Given the description of an element on the screen output the (x, y) to click on. 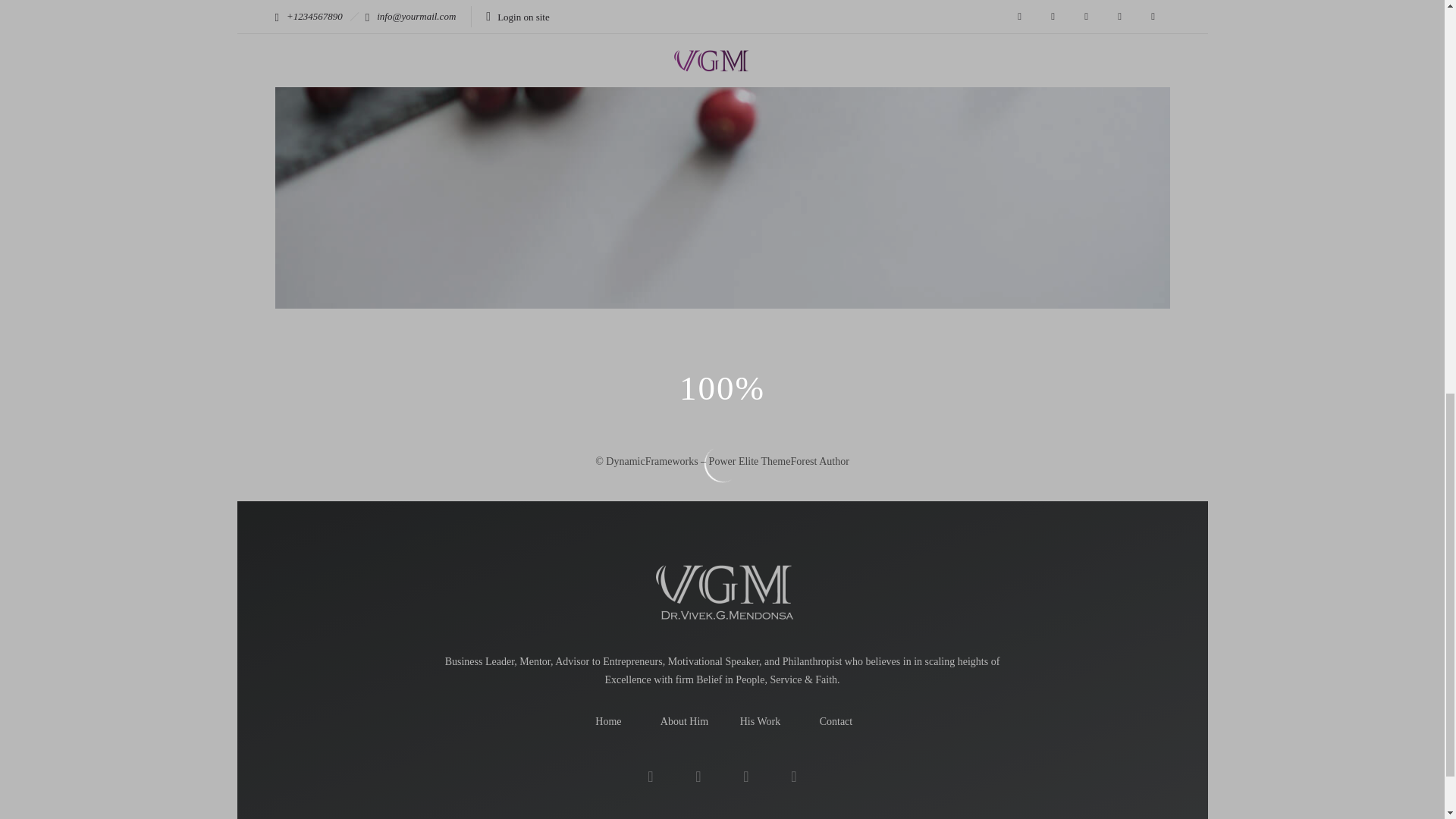
His Work (759, 721)
WHOLESALE BUYERS (486, 368)
WARRANTY AND RETURN (836, 368)
Home (608, 721)
AGREEMENTS (996, 368)
SHIPPING AND PAYMENT (673, 372)
About Him (684, 721)
Contact (836, 721)
